Given the description of an element on the screen output the (x, y) to click on. 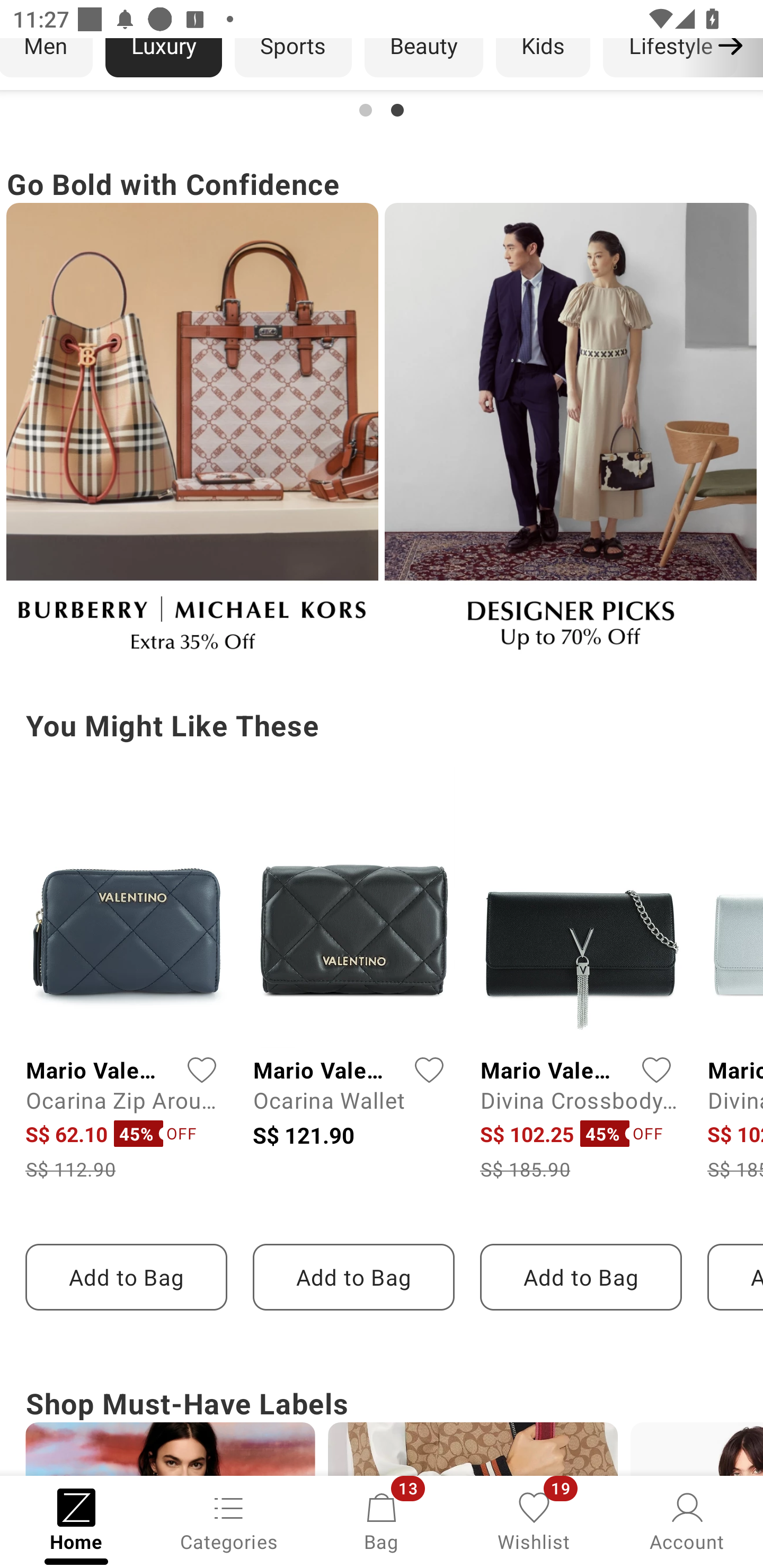
Men (46, 56)
Luxury (163, 56)
Sports (293, 56)
Beauty (423, 56)
Kids (542, 56)
Lifestyle (669, 56)
Campaign banner (381, 105)
Campaign banner (192, 434)
Campaign banner (570, 434)
Add to Bag (126, 1276)
Add to Bag (353, 1276)
Add to Bag (580, 1276)
Categories (228, 1519)
Bag, 13 new notifications Bag (381, 1519)
Wishlist, 19 new notifications Wishlist (533, 1519)
Account (686, 1519)
